Given the description of an element on the screen output the (x, y) to click on. 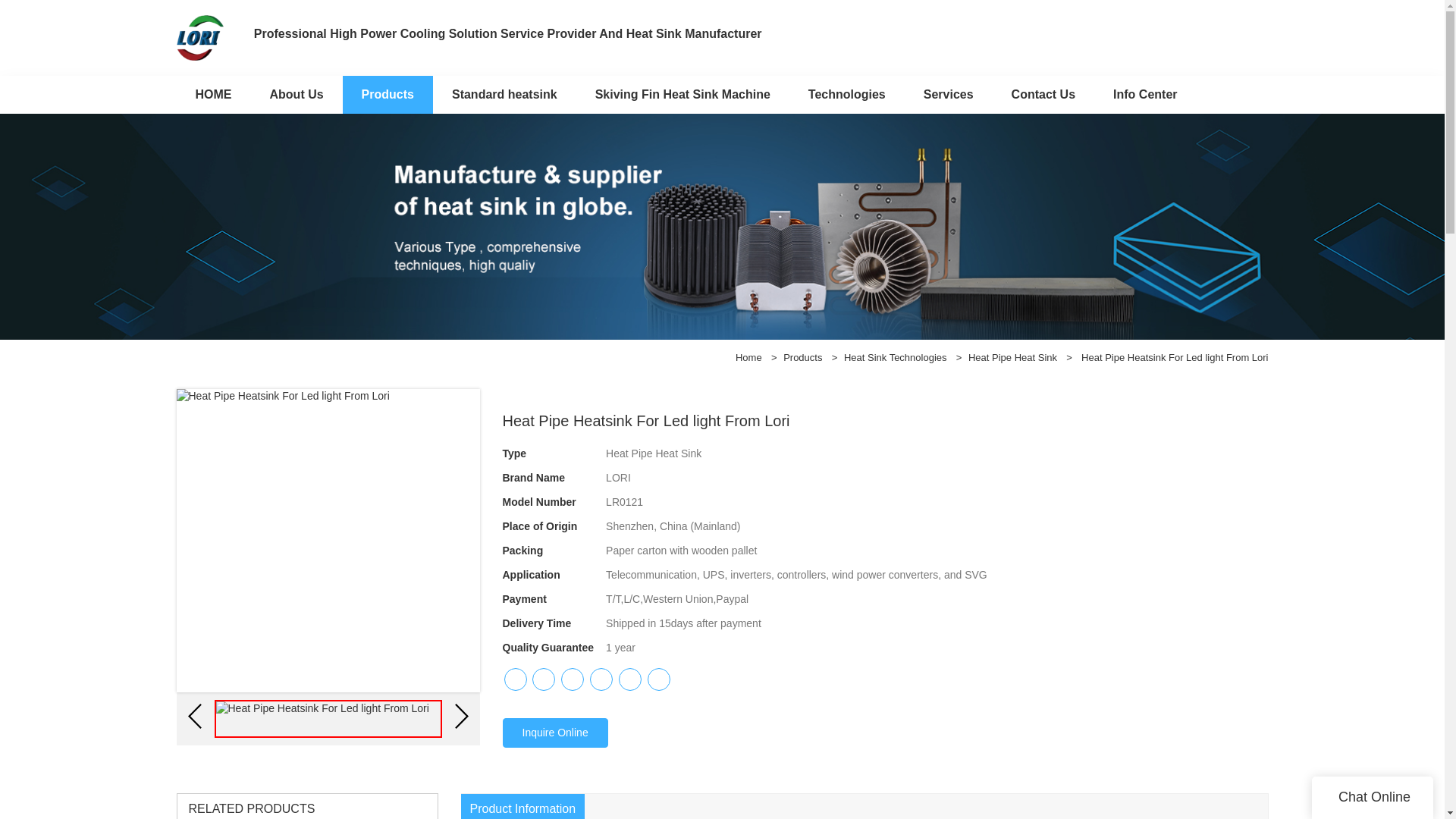
HOME (213, 93)
Products (387, 93)
About Us (296, 93)
